Given the description of an element on the screen output the (x, y) to click on. 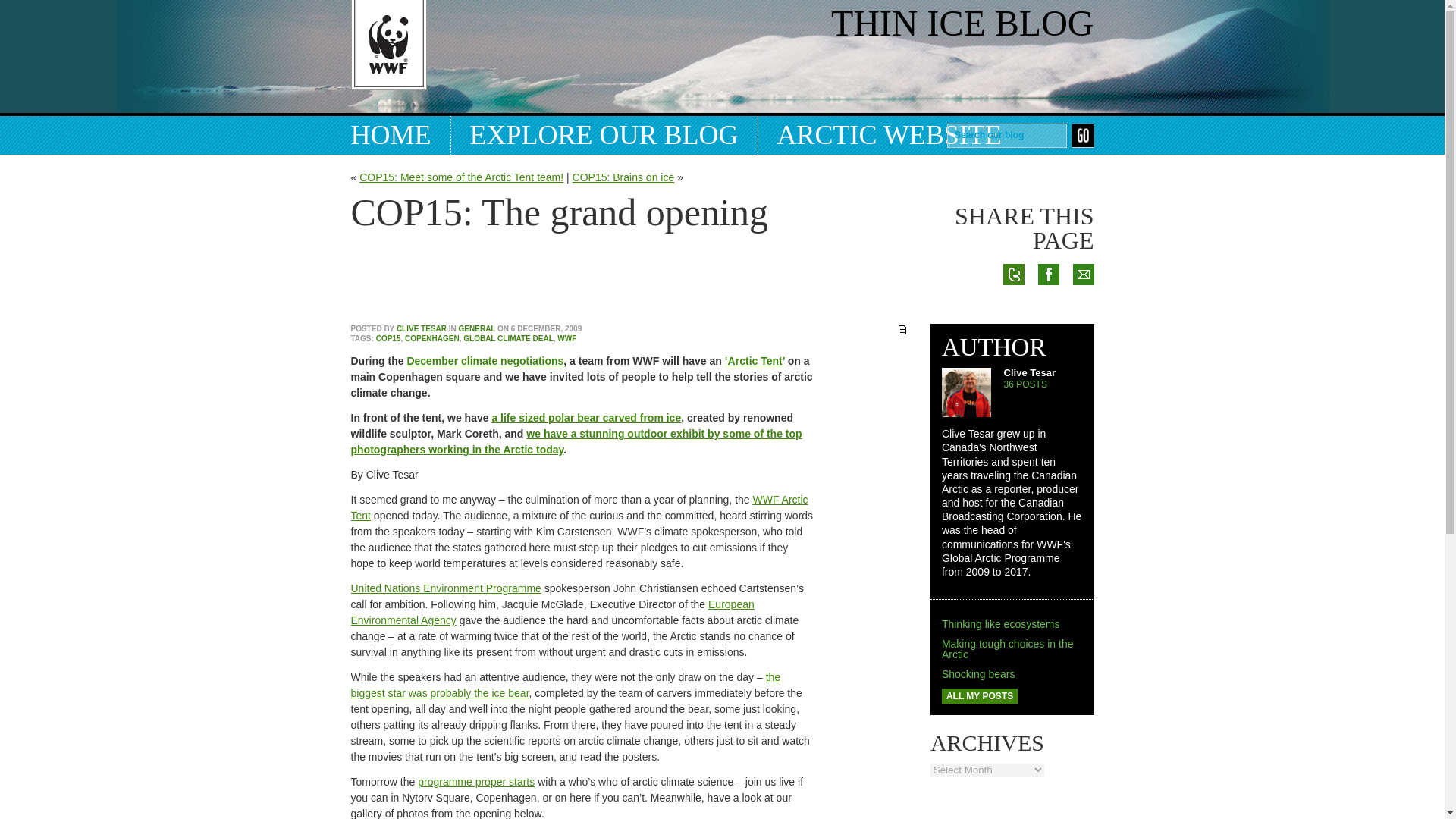
WWF Arctic Tent (579, 507)
Click to share this page via email (1082, 334)
Shocking bears (978, 674)
HOME (399, 135)
the biggest star was probably the ice bear (565, 684)
ALL MY POSTS (979, 695)
COP15 (388, 338)
European Environmental Agency (552, 612)
programme proper starts (475, 781)
Click to share this page via Twitter (1013, 334)
